Given the description of an element on the screen output the (x, y) to click on. 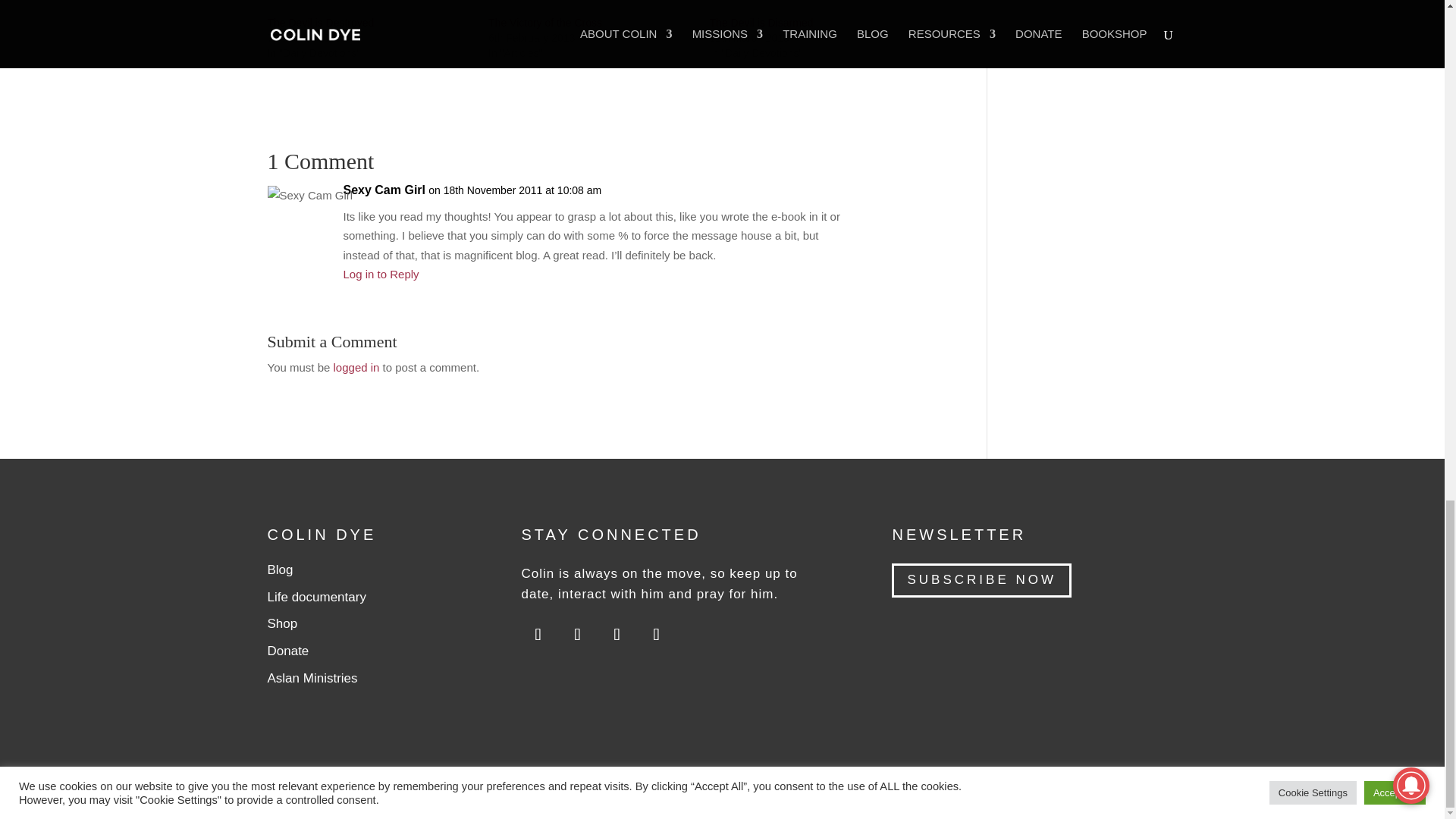
The Devil is Destroyed (320, 22)
The Devil is Disarmed (761, 22)
The Victory of the Cross (544, 22)
Follow on Facebook (655, 634)
Follow on X (616, 634)
Follow on Instagram (577, 634)
Follow on Youtube (537, 634)
